Given the description of an element on the screen output the (x, y) to click on. 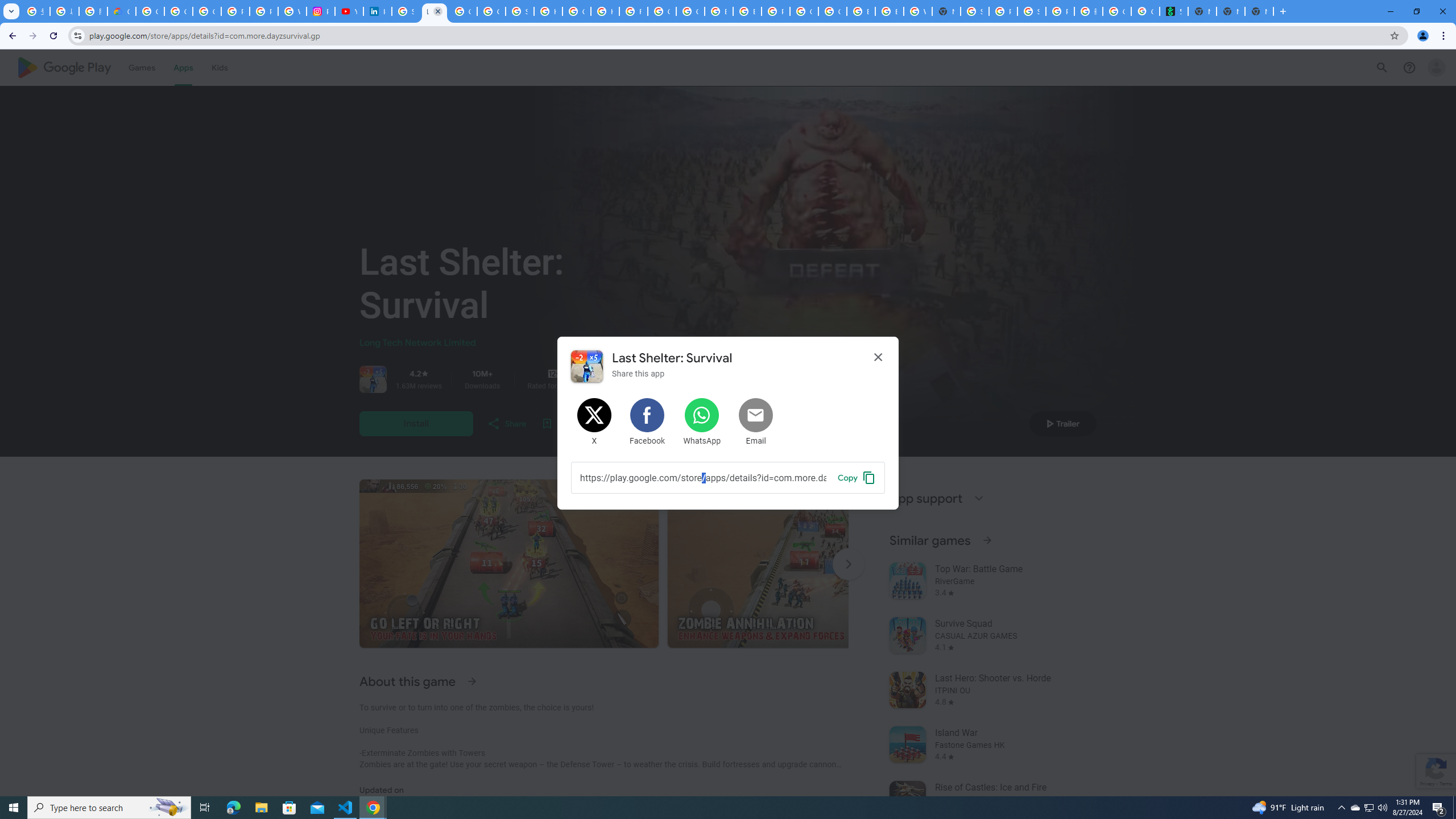
Google Cloud Platform (832, 11)
Share on X (formerly Twitter) (594, 421)
Google Workspace - Specific Terms (491, 11)
